Given the description of an element on the screen output the (x, y) to click on. 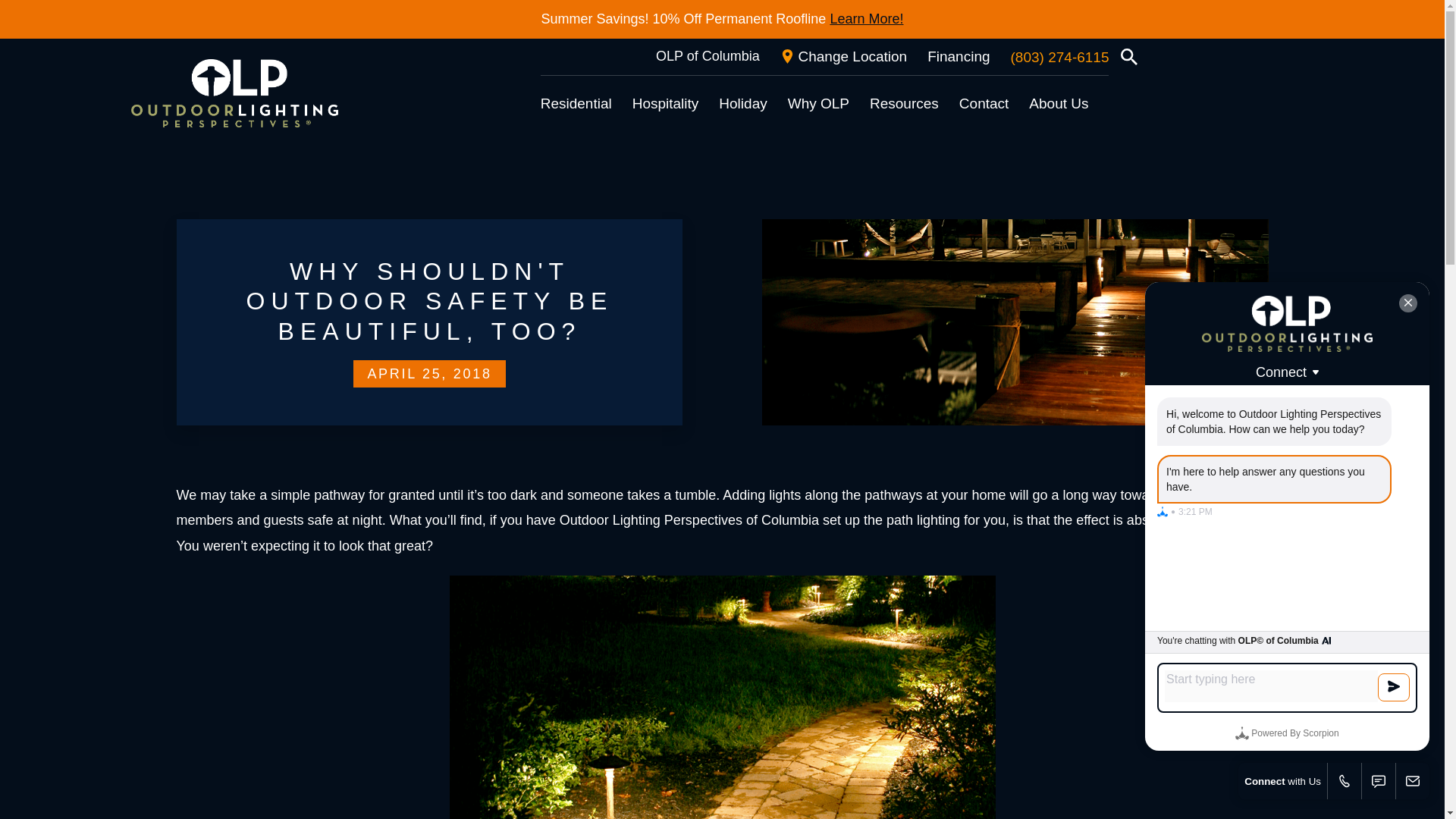
Learn More! (865, 18)
Change Location (843, 56)
Financing (958, 56)
Residential (575, 103)
Outdoor Lighting Perspectives (234, 92)
Hospitality (664, 103)
